Given the description of an element on the screen output the (x, y) to click on. 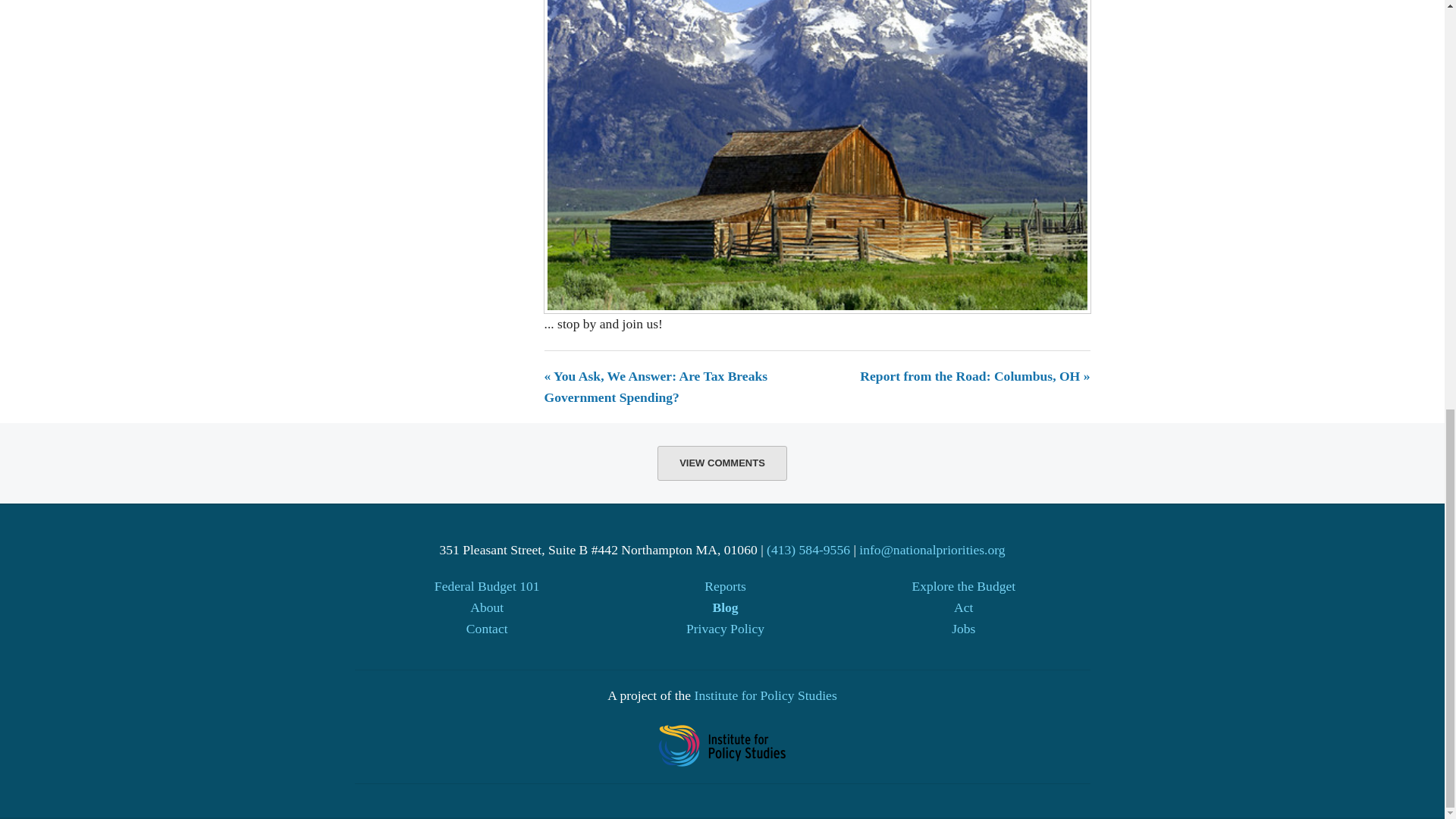
Previous Entry (656, 386)
RockyMountains by National Priorities Project, on Flickr (817, 107)
Next Entry (974, 376)
